Given the description of an element on the screen output the (x, y) to click on. 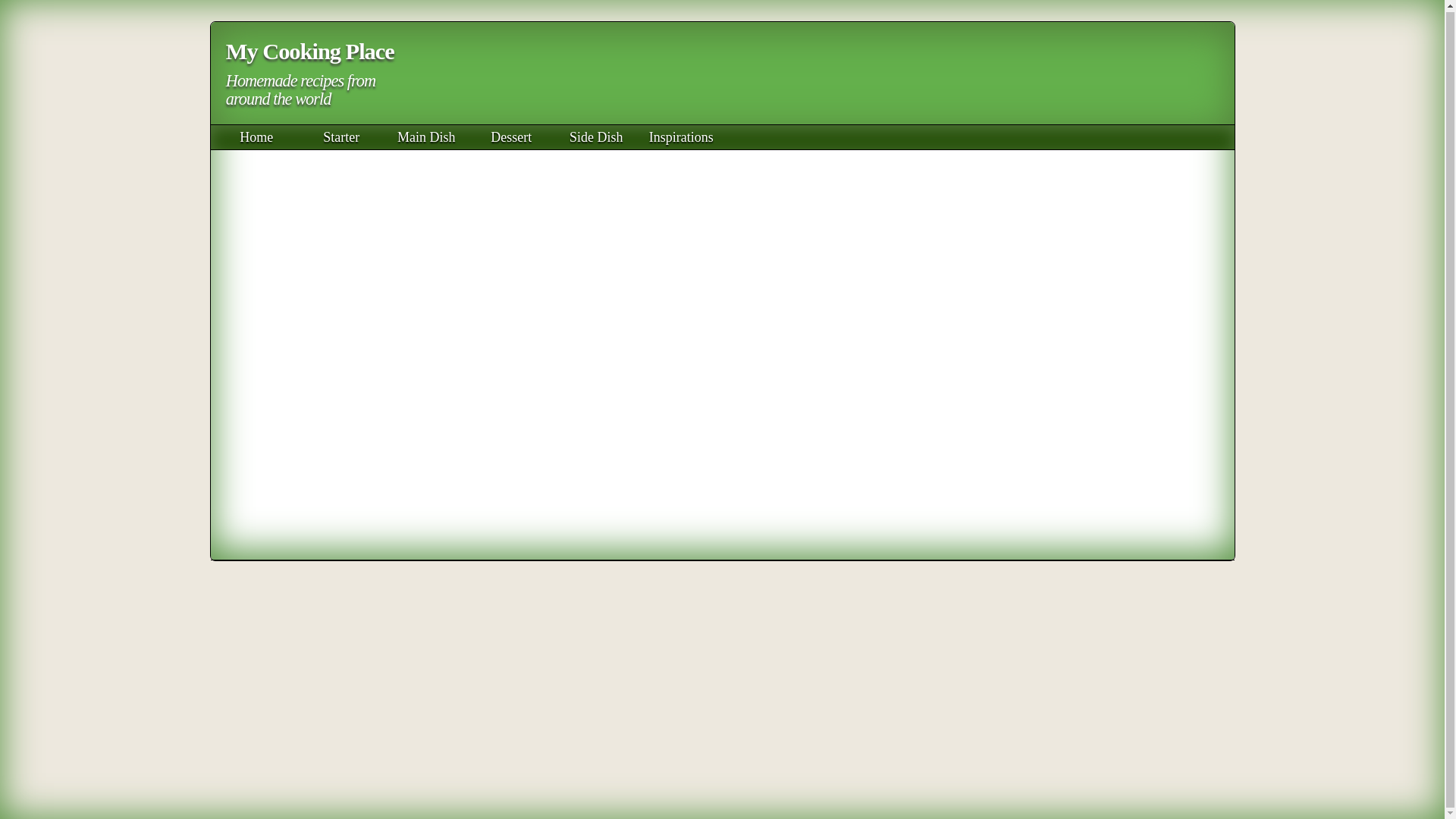
Dessert (510, 137)
Side Dish (595, 137)
Main Dish (426, 137)
Home (256, 137)
Inspirations (681, 137)
Starter (340, 137)
